Given the description of an element on the screen output the (x, y) to click on. 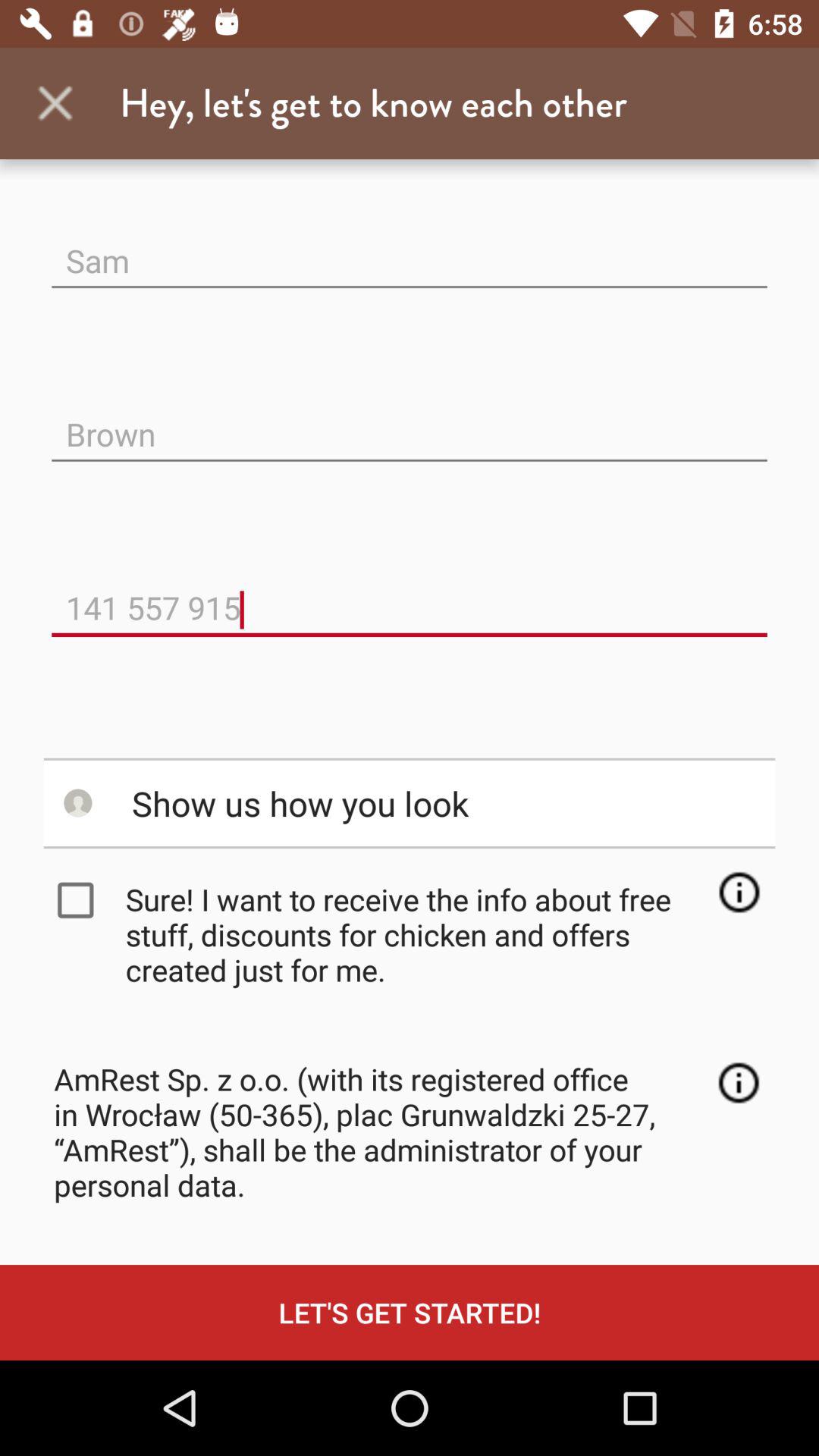
open the item above sam icon (55, 103)
